Given the description of an element on the screen output the (x, y) to click on. 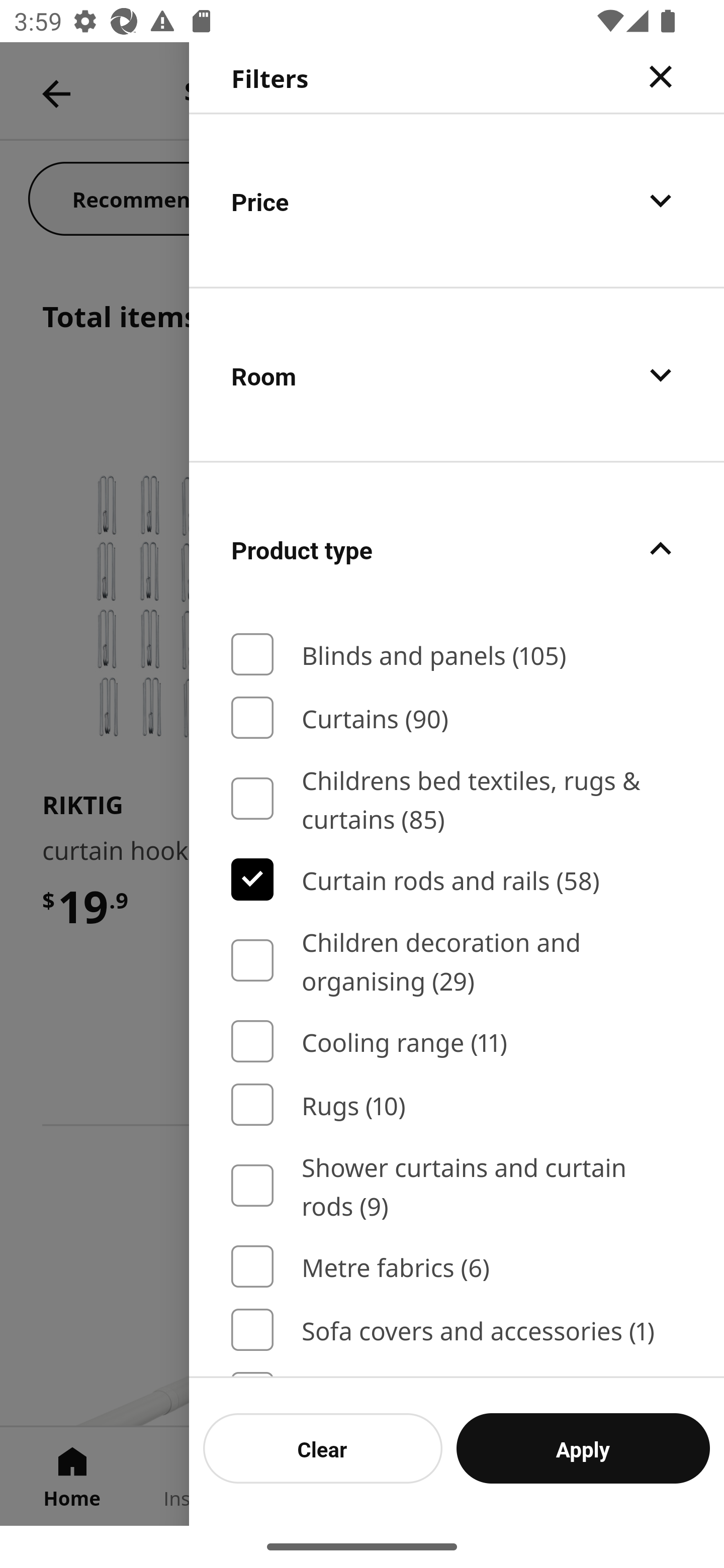
Price (456, 200)
Room (456, 374)
Product type (456, 548)
Blinds and panels (105) (456, 654)
Curtains (90) (456, 717)
Childrens bed textiles, rugs & curtains (85) (456, 798)
Curtain rods and rails (58) (456, 878)
Children decoration and organising (29) (456, 959)
Cooling range (11) (456, 1041)
Rugs (10) (456, 1104)
Shower curtains and curtain rods (9) (456, 1185)
Metre fabrics (6) (456, 1265)
Sofa covers and accessories (1) (456, 1330)
Clear (322, 1447)
Apply (583, 1447)
